Given the description of an element on the screen output the (x, y) to click on. 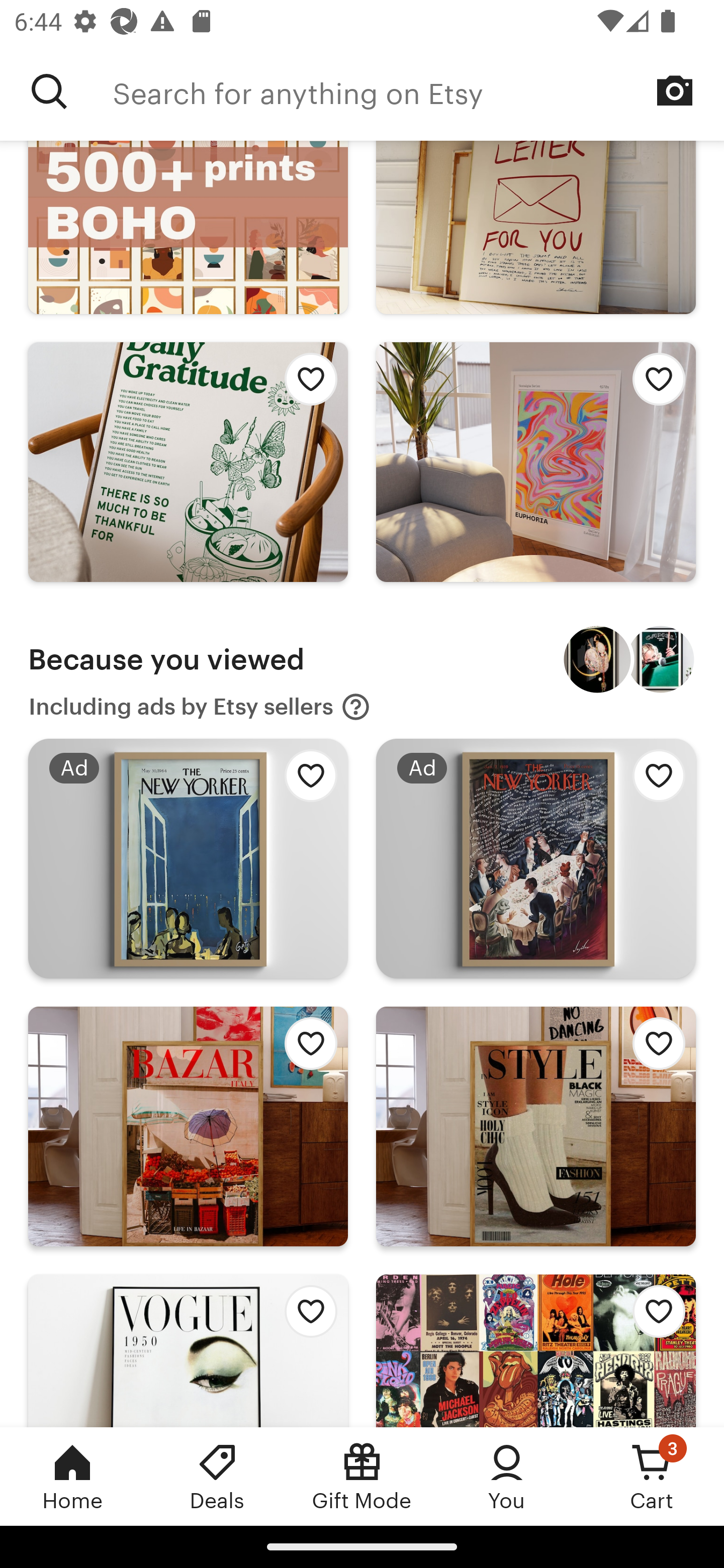
Search for anything on Etsy (49, 91)
Search by image (674, 90)
Search for anything on Etsy (418, 91)
Camel, Pleasure to Burn Vintage Cigarettes Poster (660, 658)
Including ads by Etsy sellers (199, 706)
Deals (216, 1475)
Gift Mode (361, 1475)
You (506, 1475)
Cart, 3 new notifications Cart (651, 1475)
